Given the description of an element on the screen output the (x, y) to click on. 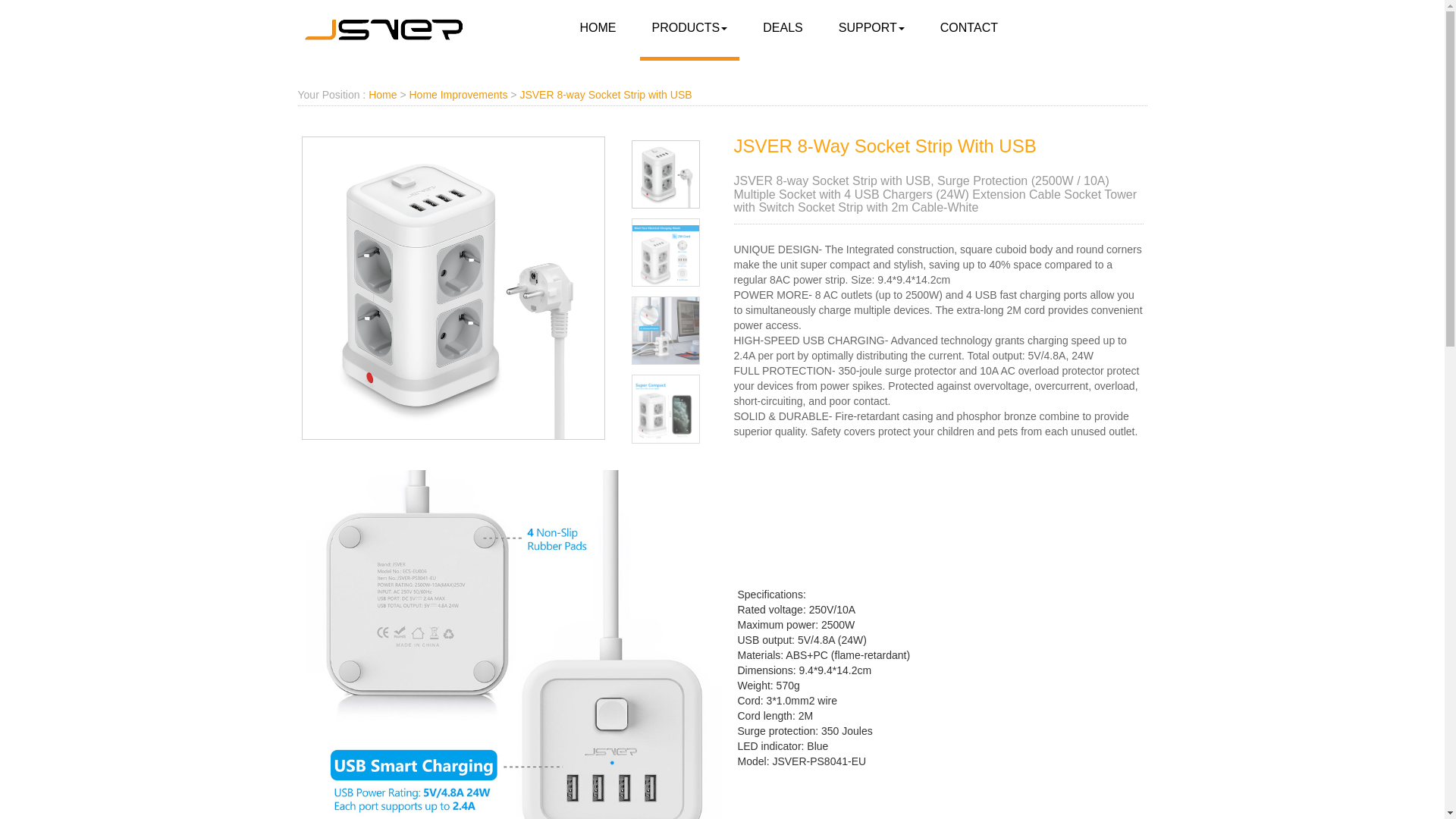
Home Improvements (457, 94)
JSVER 8-way Socket Strip with USB (605, 94)
SUPPORT (872, 28)
Home (382, 94)
HOME (597, 28)
PRODUCTS (689, 28)
DEALS (782, 28)
CONTACT (969, 28)
